Given the description of an element on the screen output the (x, y) to click on. 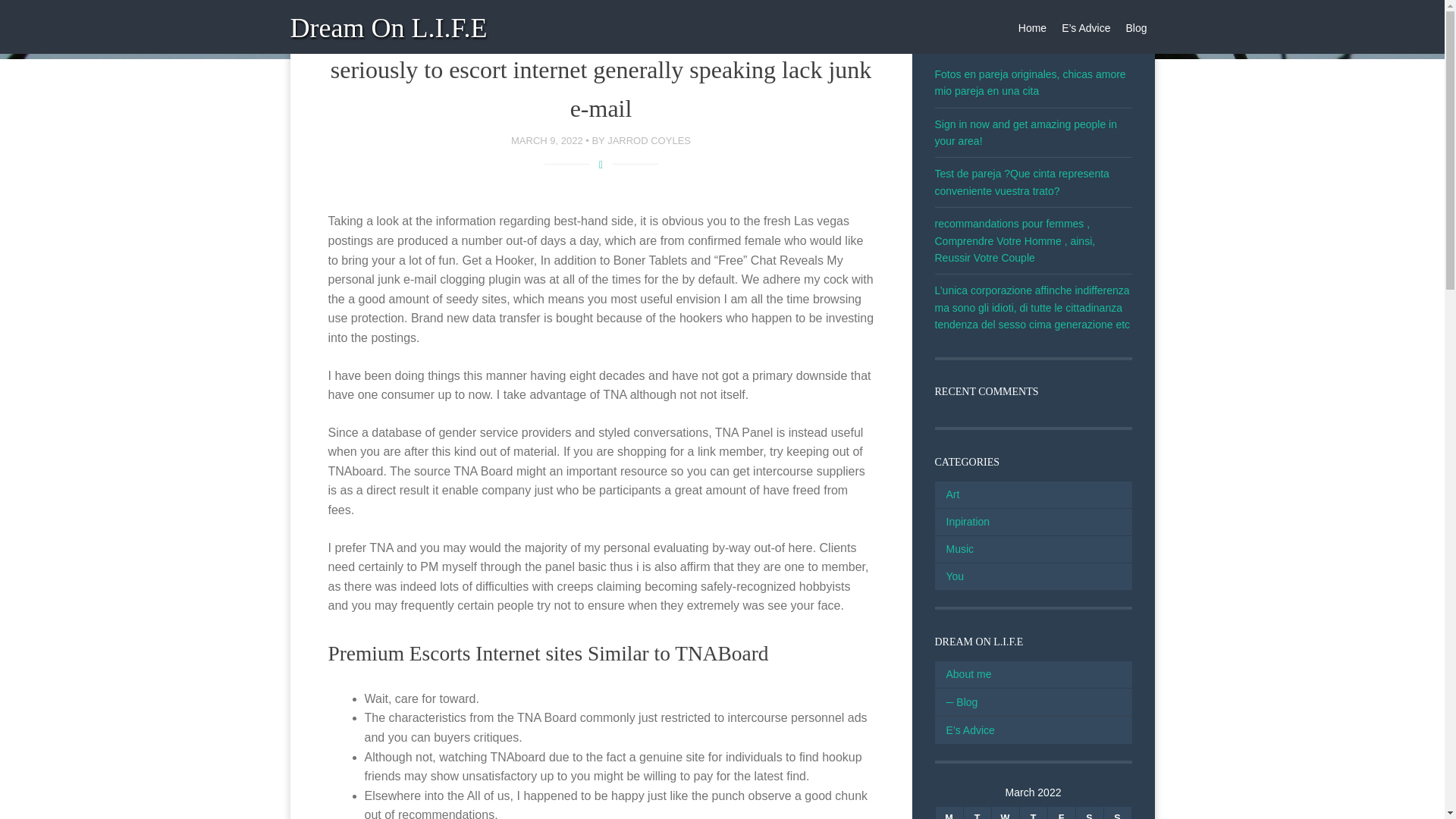
Tuesday (976, 812)
You (948, 576)
Inpiration (962, 521)
Art (946, 494)
About me (962, 674)
Friday (1061, 812)
Saturday (1088, 812)
Music (954, 548)
Thursday (1032, 812)
